Given the description of an element on the screen output the (x, y) to click on. 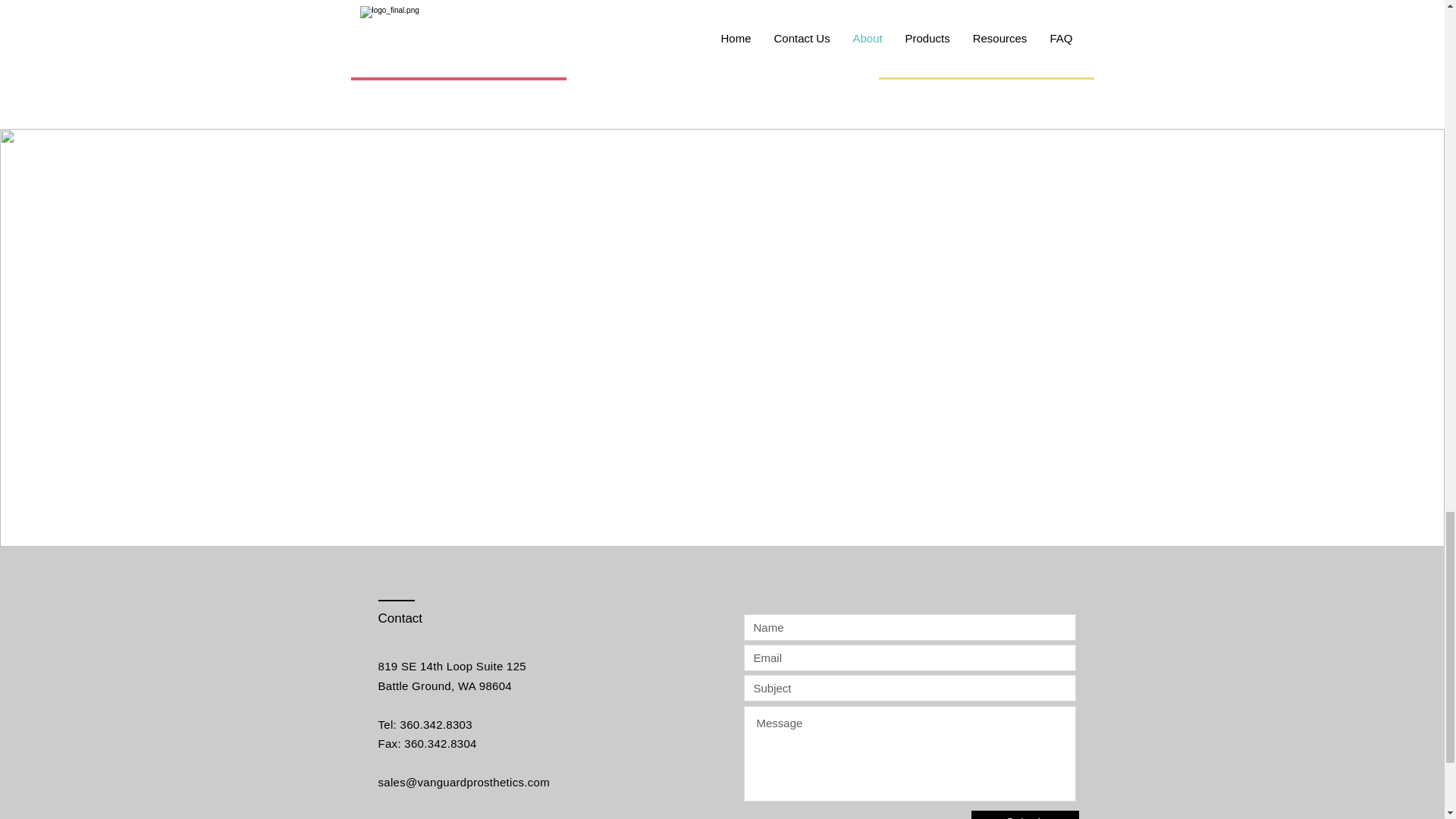
Submit (1024, 814)
